Given the description of an element on the screen output the (x, y) to click on. 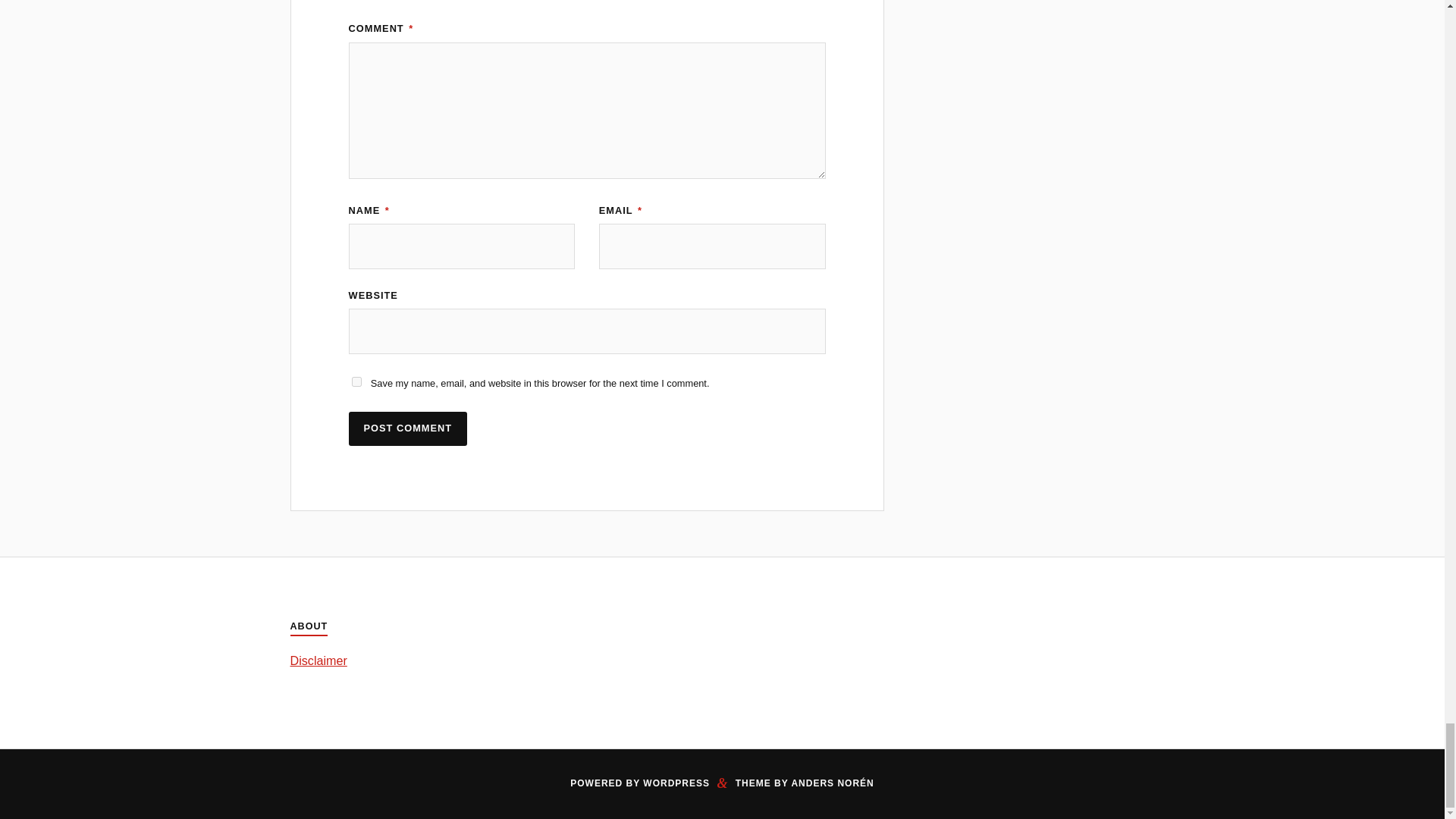
yes (356, 381)
Post Comment (408, 428)
